Given the description of an element on the screen output the (x, y) to click on. 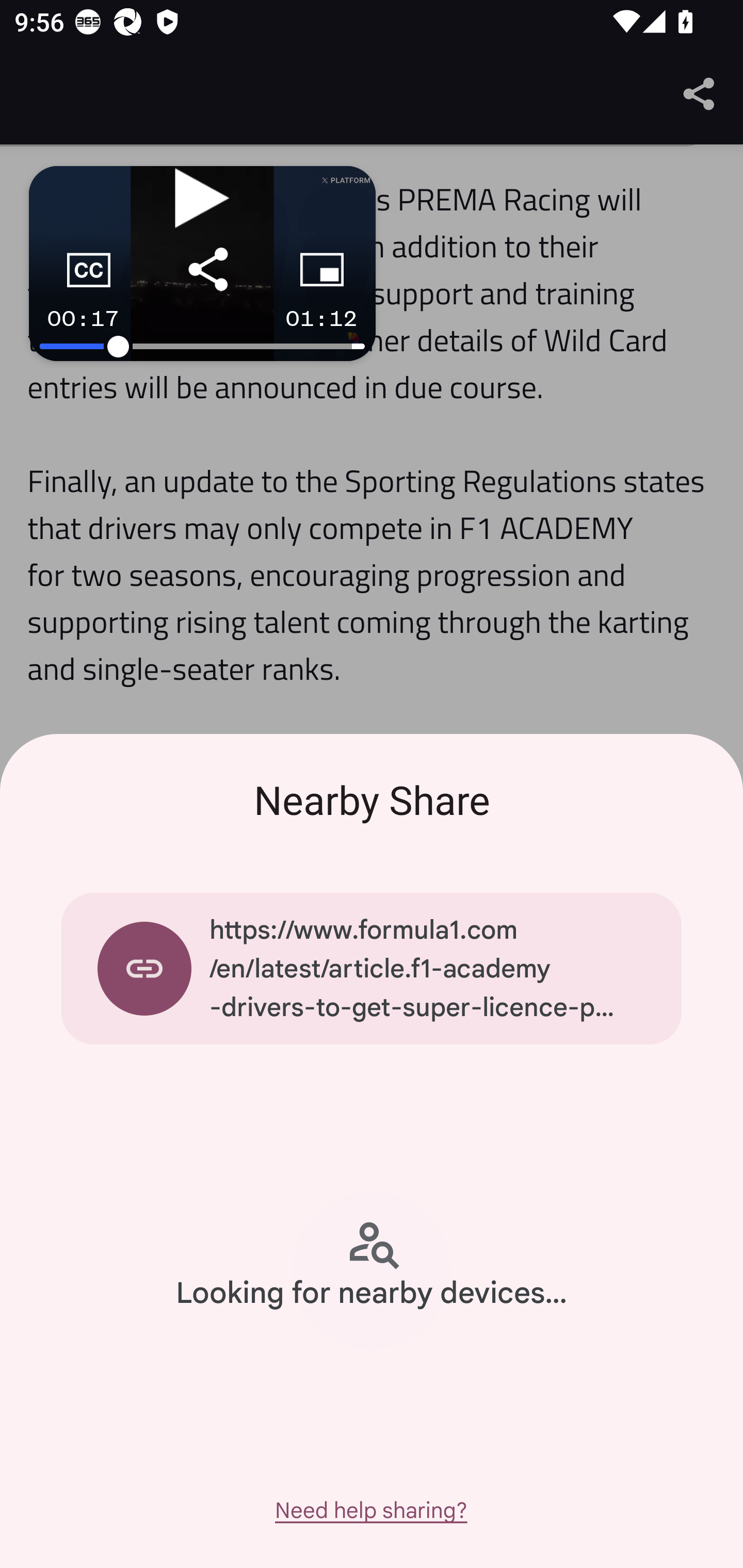
Need help sharing? (370, 1510)
